Given the description of an element on the screen output the (x, y) to click on. 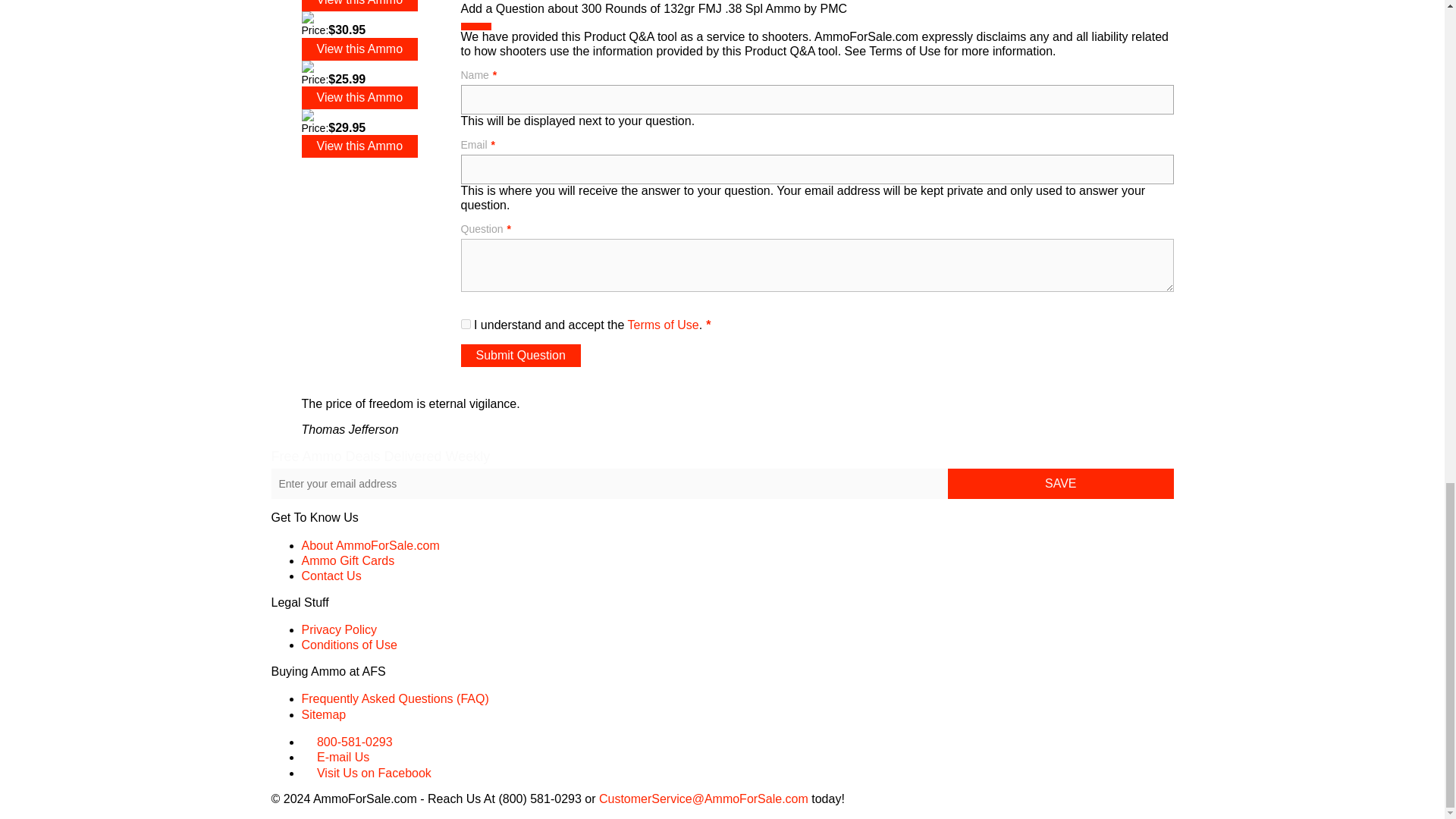
Save (1060, 483)
on (465, 324)
